Given the description of an element on the screen output the (x, y) to click on. 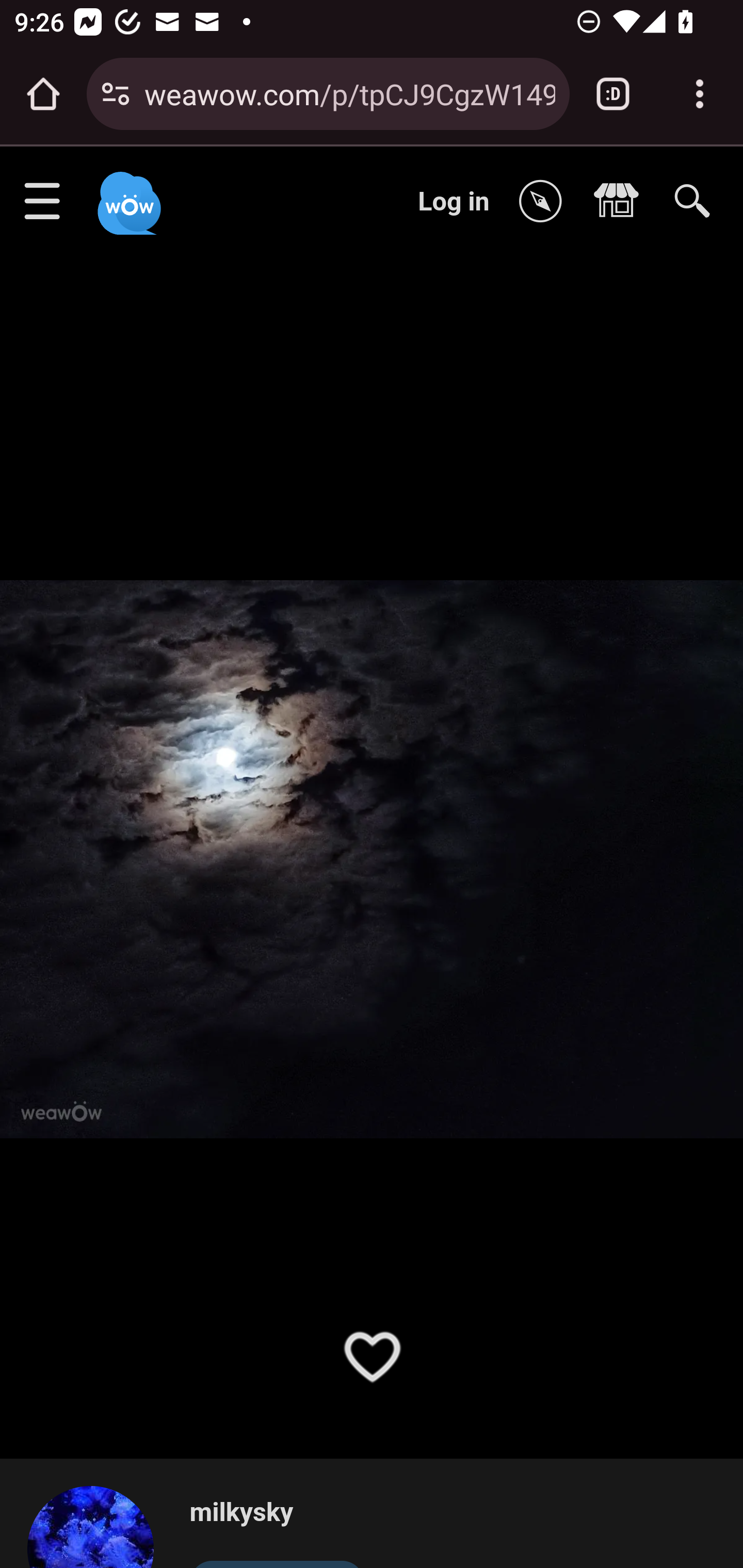
Open the home page (43, 93)
Connection is secure (115, 93)
Switch or close tabs (612, 93)
Customize and control Google Chrome (699, 93)
weawow.com/p/tpCJ9CgzW1493655 (349, 92)
Weawow (127, 194)
 (545, 201)
 (621, 201)
Log in (453, 201)
milkysky (99, 1525)
milkysky (275, 1513)
